Given the description of an element on the screen output the (x, y) to click on. 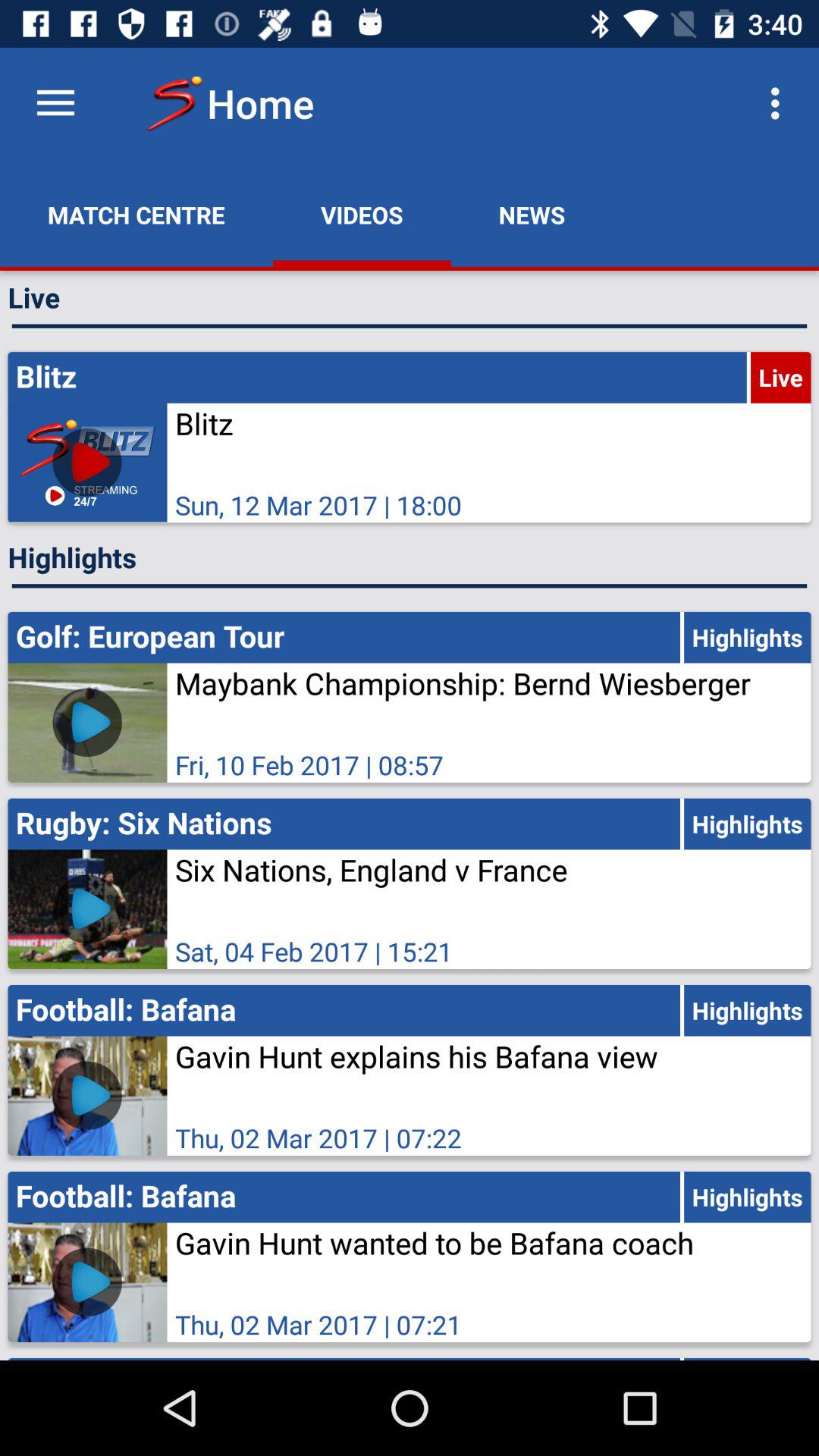
click on the third feed (409, 883)
click on the first video bottom (87, 1282)
